Given the description of an element on the screen output the (x, y) to click on. 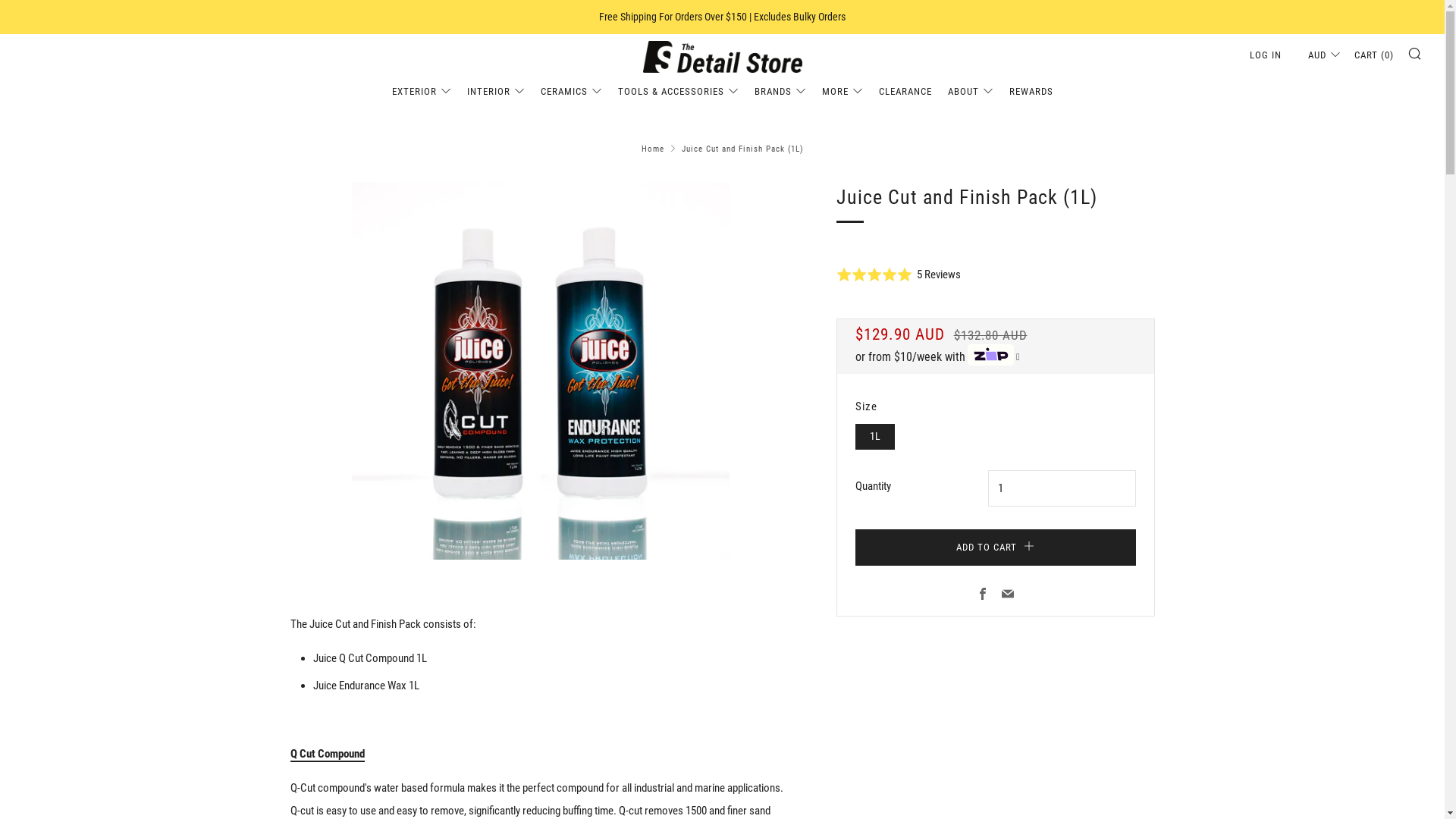
CERAMICS Element type: text (570, 91)
SEARCH Element type: text (1414, 52)
EXTERIOR Element type: text (420, 91)
TOOLS & ACCESSORIES Element type: text (677, 91)
CART (0) Element type: text (1373, 55)
MORE Element type: text (842, 91)
Facebook Element type: text (982, 594)
Q Cut Compound Element type: text (326, 754)
INTERIOR Element type: text (495, 91)
ADD TO CART Element type: text (995, 547)
AUD Element type: text (1317, 55)
Email Element type: text (1007, 594)
REWARDS Element type: text (1030, 91)
Free Shipping For Orders Over $150 | Excludes Bulky Orders Element type: text (722, 17)
BRANDS Element type: text (779, 91)
Home Element type: text (652, 148)
CLEARANCE Element type: text (904, 91)
ABOUT Element type: text (970, 91)
LOG IN Element type: text (1265, 55)
